Given the description of an element on the screen output the (x, y) to click on. 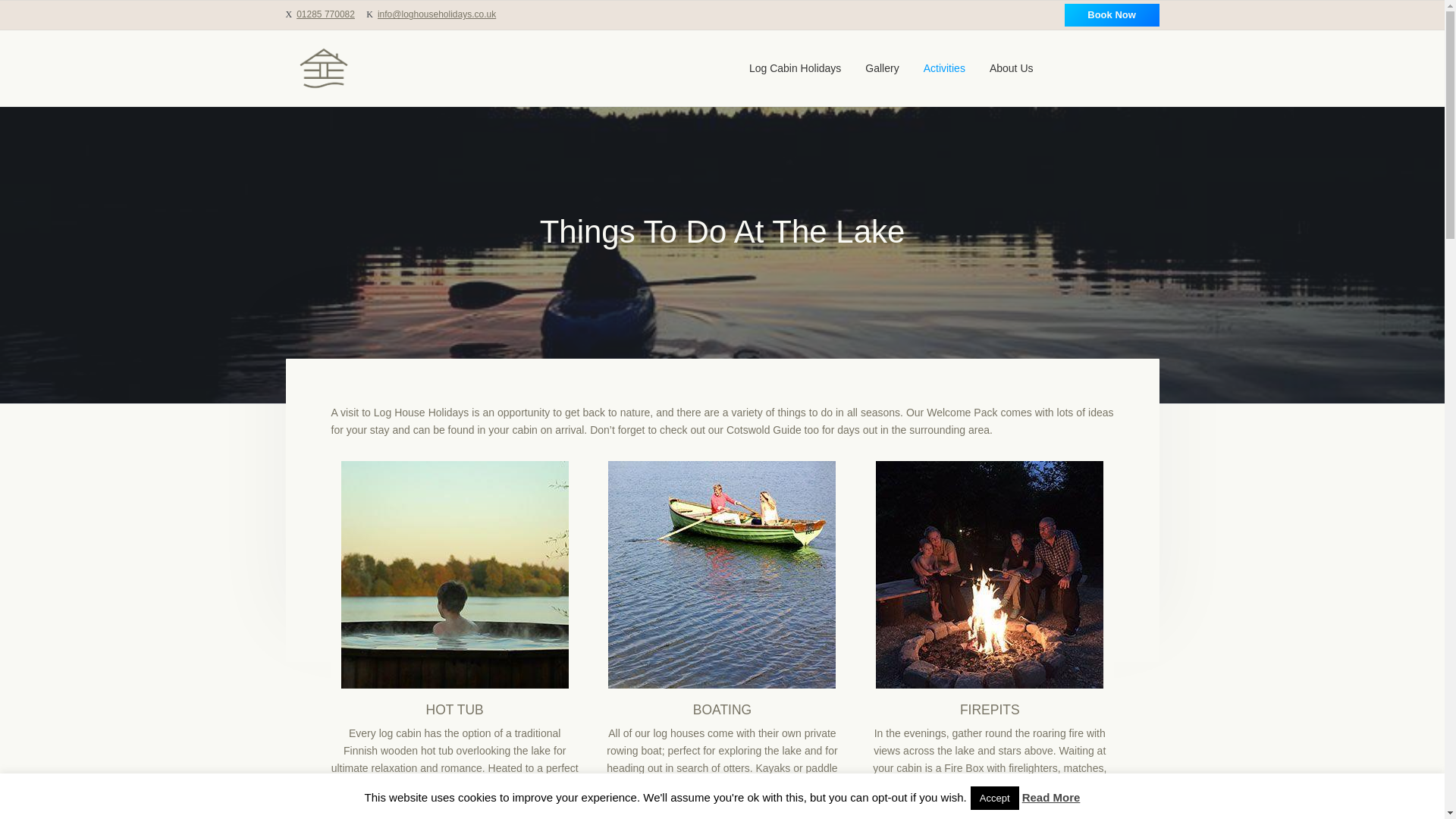
Gallery (881, 67)
Log Cabin Holidays (795, 67)
Activities (944, 67)
Book Now (1111, 15)
01285 770082 (326, 14)
About Us (1011, 67)
